Given the description of an element on the screen output the (x, y) to click on. 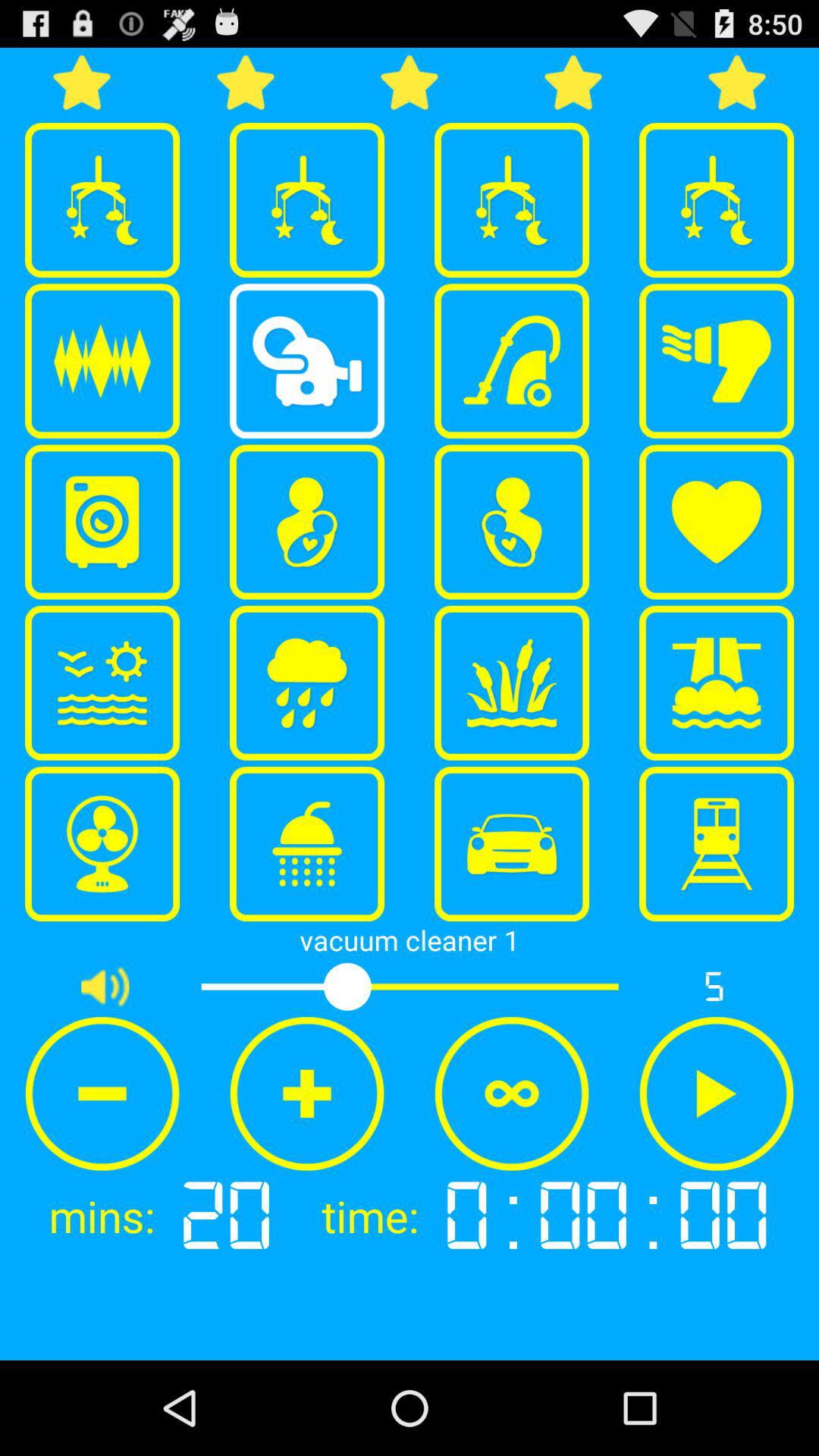
press the item above the 0:00:00 app (716, 1093)
